Given the description of an element on the screen output the (x, y) to click on. 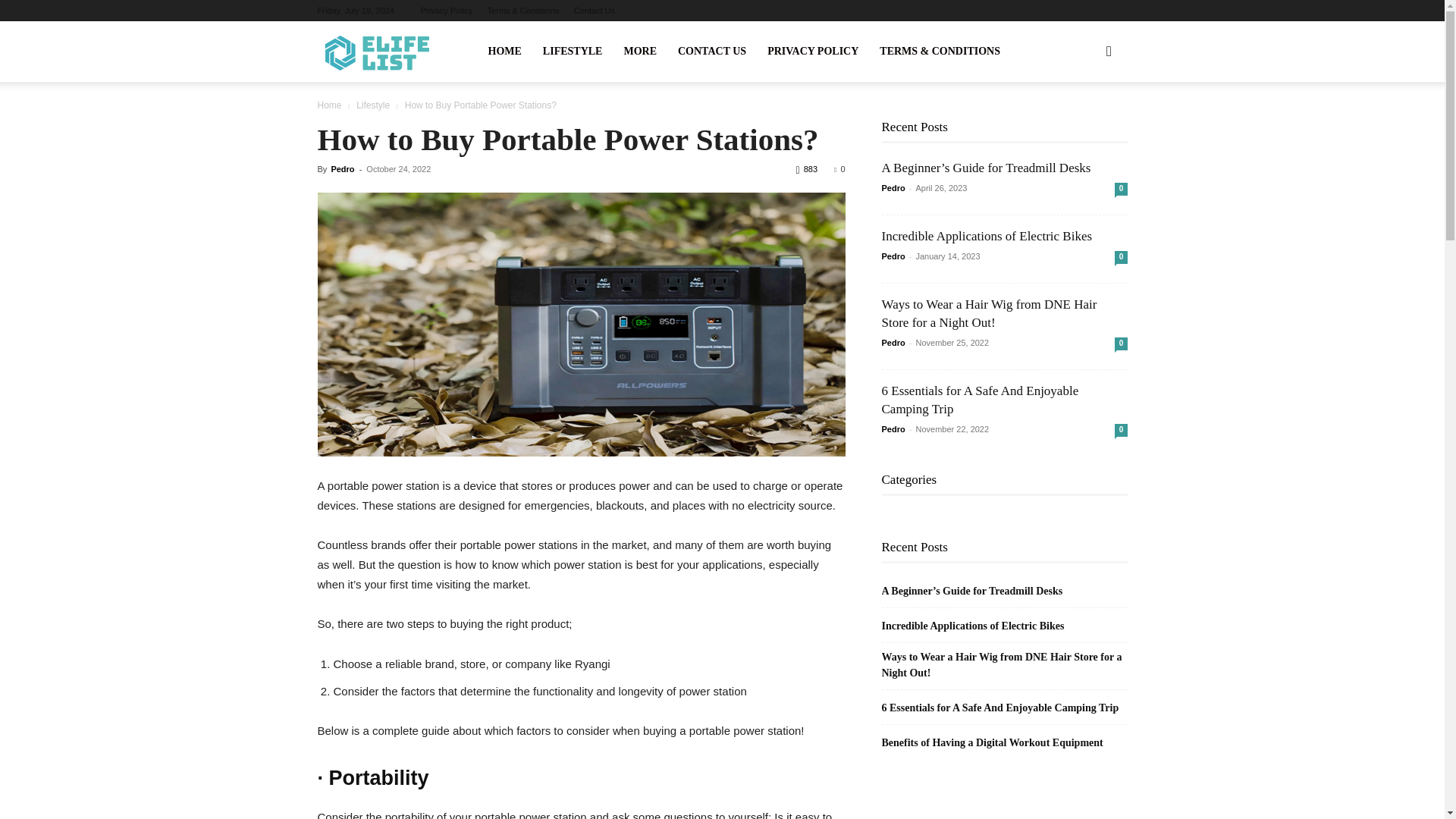
Privacy Policy (445, 10)
PRIVACY POLICY (813, 51)
View all posts in Lifestyle (373, 104)
Lifestyle (373, 104)
HOME (504, 51)
Elife List (381, 51)
Home (328, 104)
Contact Us (593, 10)
MORE (639, 51)
LIFESTYLE (572, 51)
Search (1085, 124)
0 (839, 168)
Pedro (341, 168)
CONTACT US (711, 51)
